Given the description of an element on the screen output the (x, y) to click on. 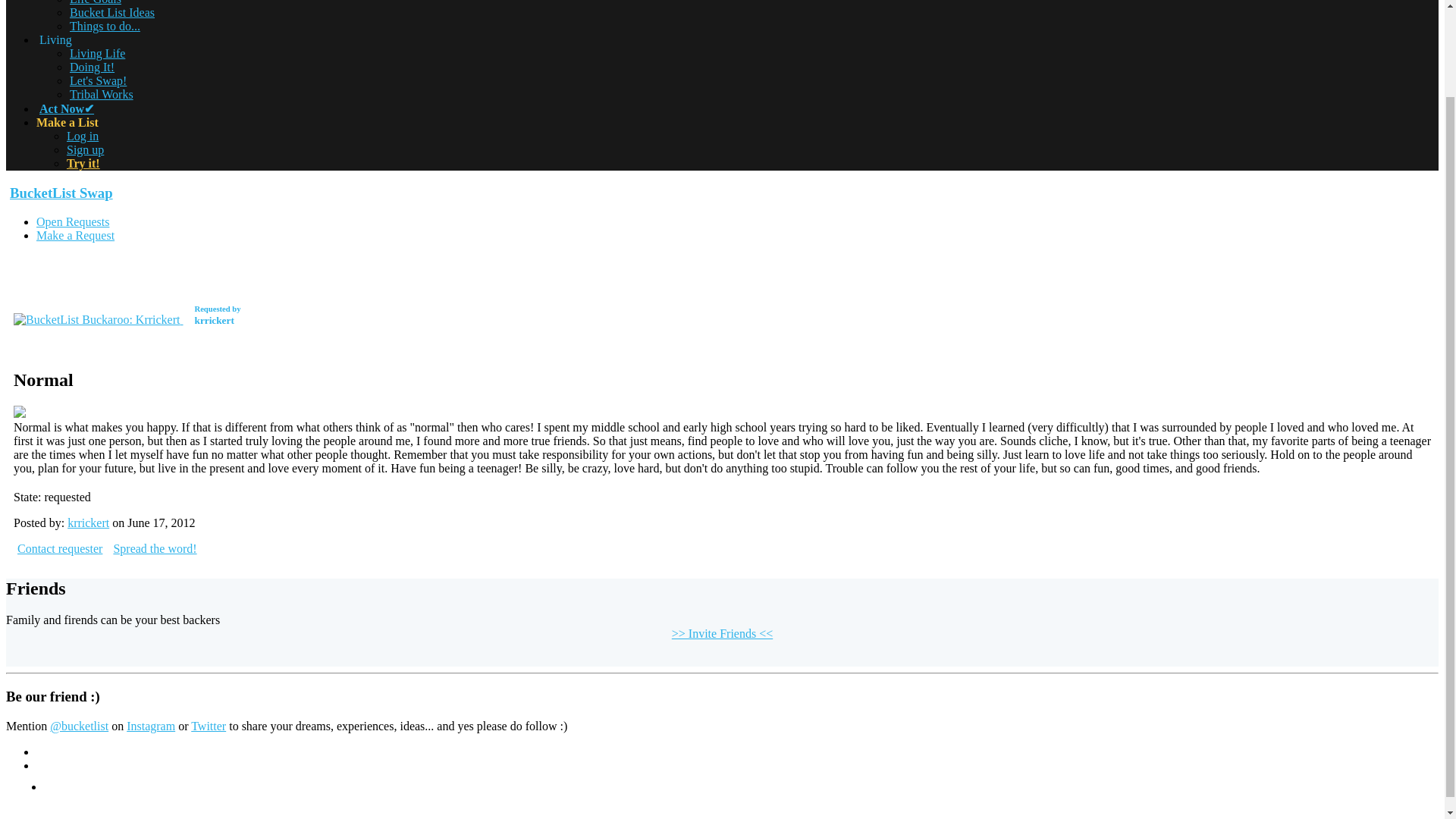
Instagram (150, 725)
Life Goals (94, 2)
Bucket List Ideas (127, 318)
Log in (111, 11)
Make a Request (82, 135)
Sign up (75, 235)
Doing It! (84, 149)
Make a List (92, 66)
Twitter (67, 122)
